Given the description of an element on the screen output the (x, y) to click on. 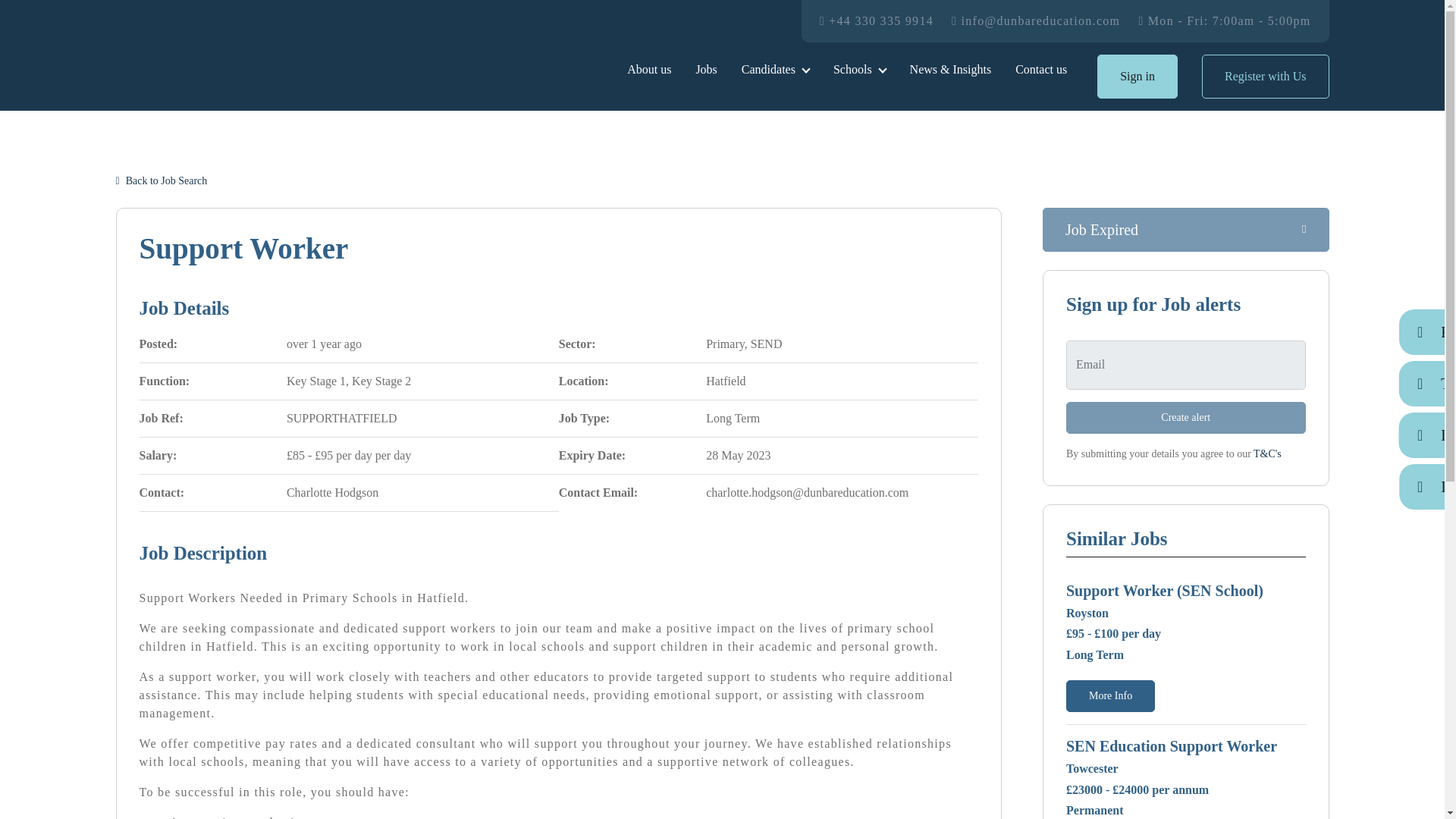
Jobs (705, 69)
SEND (767, 343)
Long Term (733, 418)
Primary (725, 343)
Schools (859, 69)
Key Stage 1 (316, 380)
Register with Us (1265, 76)
About us (648, 69)
Sign in (1137, 76)
Candidates (775, 69)
Contact us (1040, 69)
Key Stage 2 (381, 380)
Back to Job Search (160, 180)
